Given the description of an element on the screen output the (x, y) to click on. 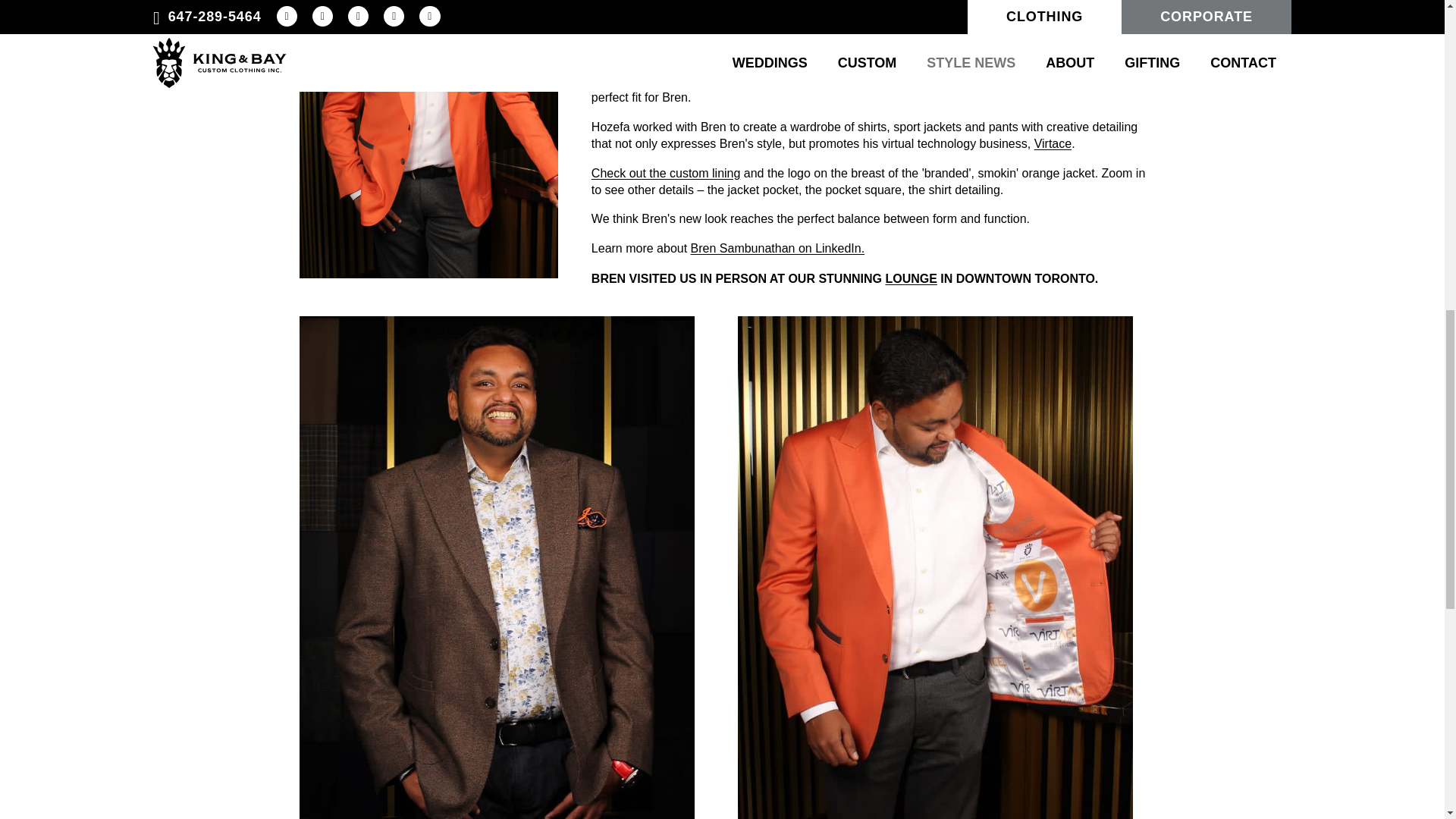
VirtAce Website Link (1052, 143)
Master Clothier Hozefa Harawala (713, 80)
Bren Sambunathan on LinkedIn (777, 247)
